Given the description of an element on the screen output the (x, y) to click on. 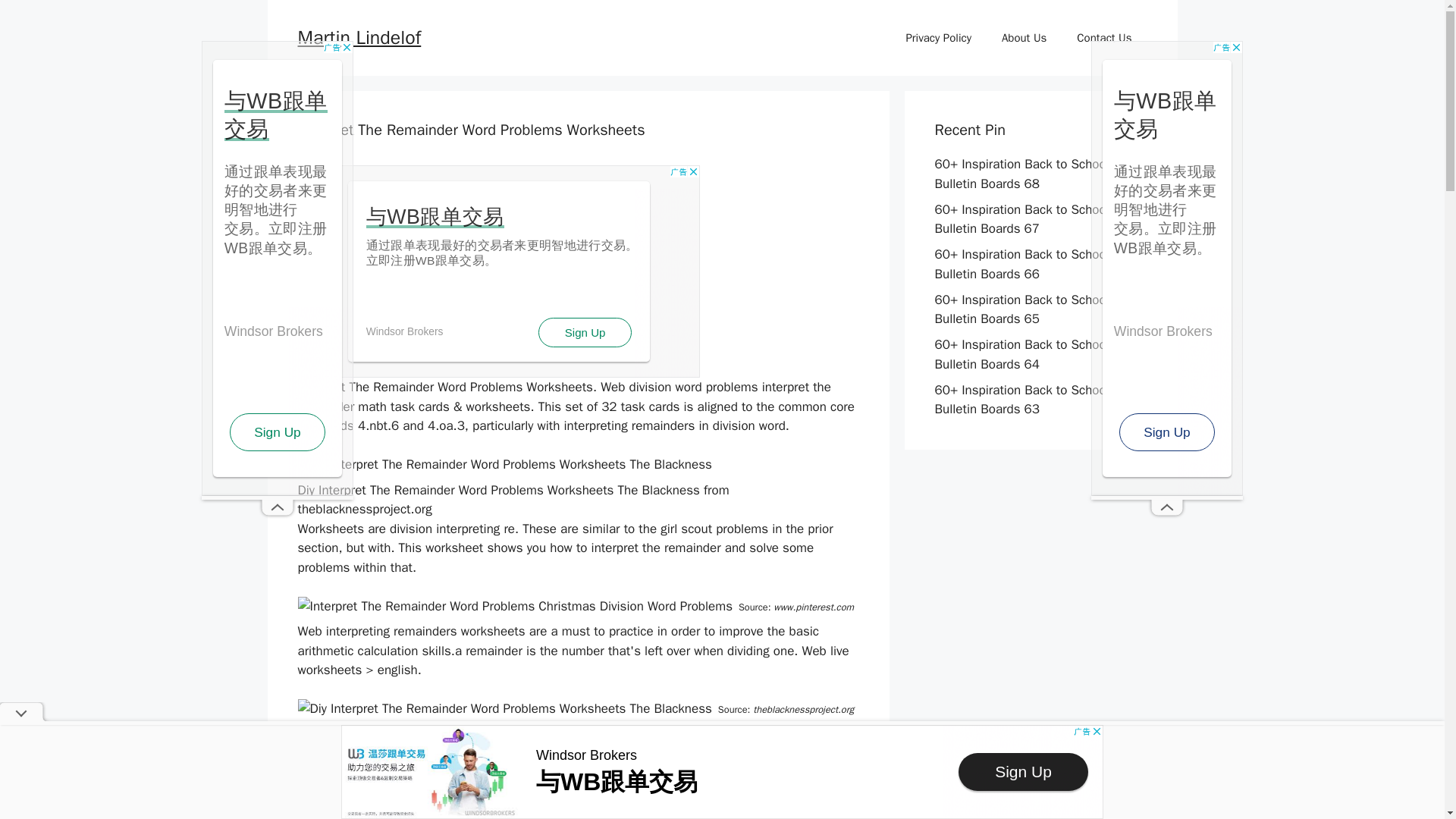
Privacy Policy (938, 37)
About Us (1024, 37)
Martin Lindelof (358, 37)
Advertisement (721, 771)
Contact Us (1104, 37)
Advertisement (497, 271)
